Given the description of an element on the screen output the (x, y) to click on. 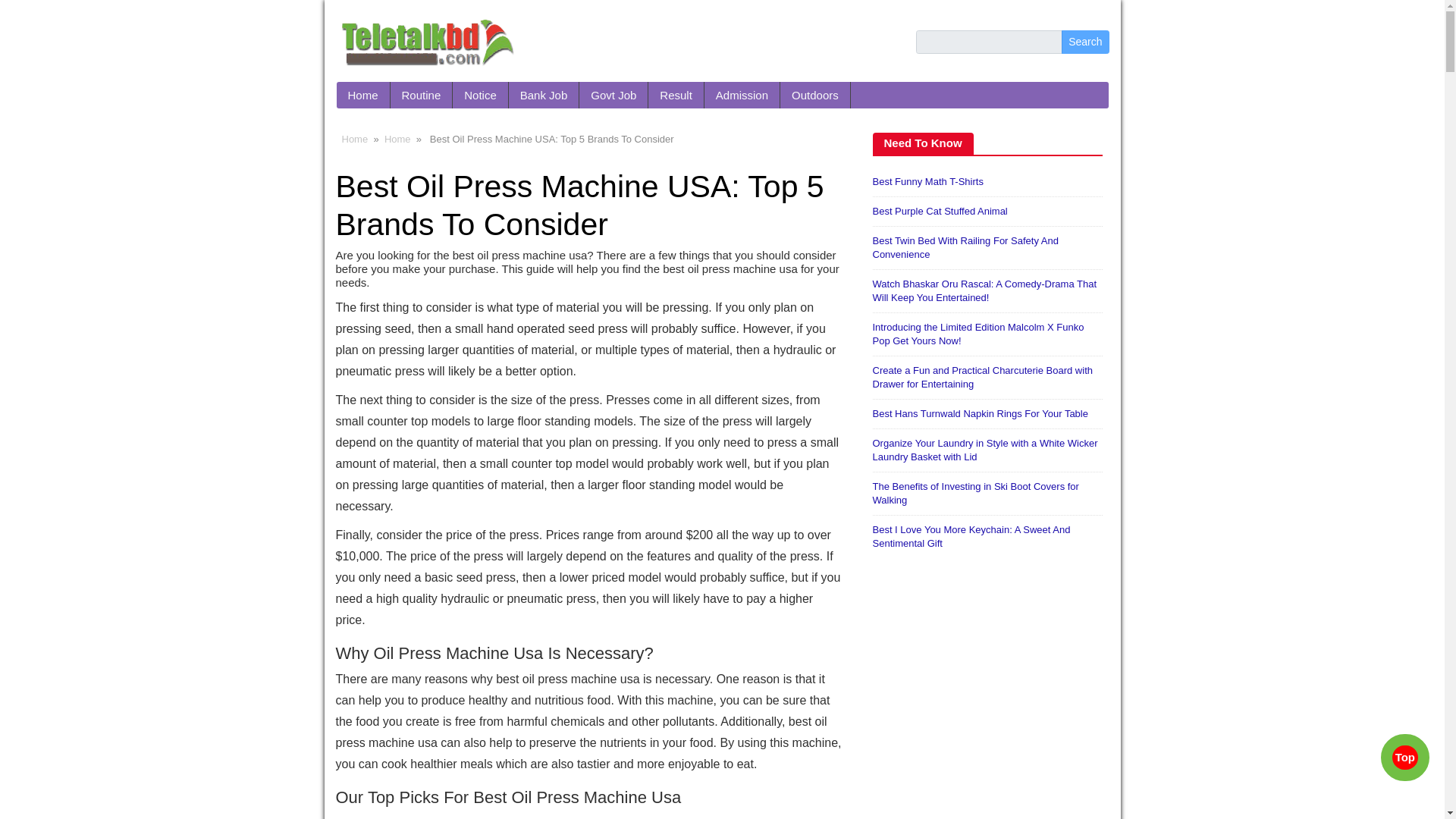
Best Funny Math T-Shirts (927, 181)
Best Oil Press Machine USA: Top 5 Brands To Consider (579, 204)
Admission (742, 94)
Search (1084, 42)
Home (363, 94)
Home (397, 139)
Notice (480, 94)
Search (1084, 42)
Govt Job (613, 94)
Result (675, 94)
